Given the description of an element on the screen output the (x, y) to click on. 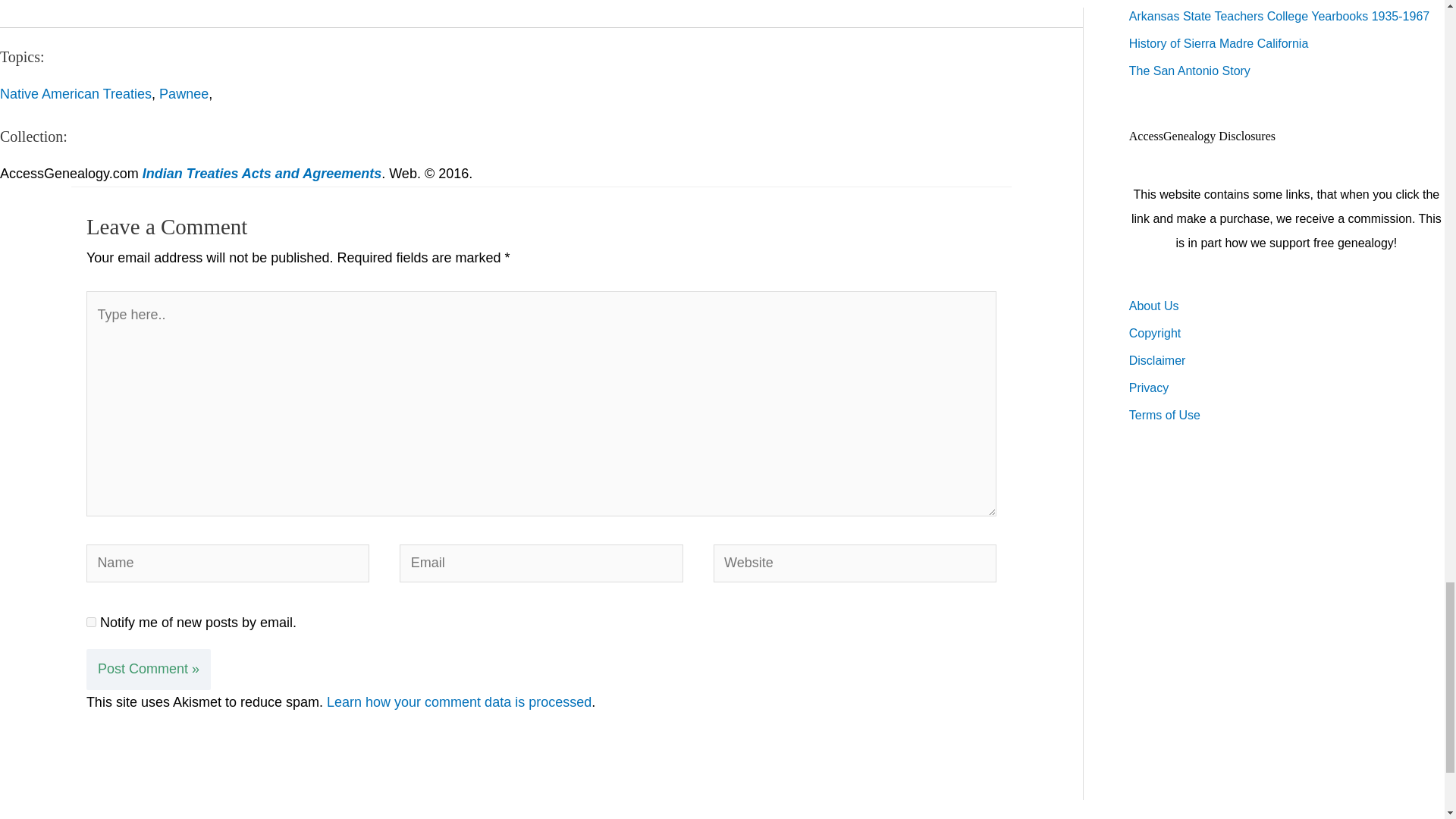
subscribe (90, 622)
Pawnee (183, 93)
Indian Treaties Acts and Agreements (261, 173)
Native American Treaties (75, 93)
Learn how your comment data is processed (458, 702)
